Given the description of an element on the screen output the (x, y) to click on. 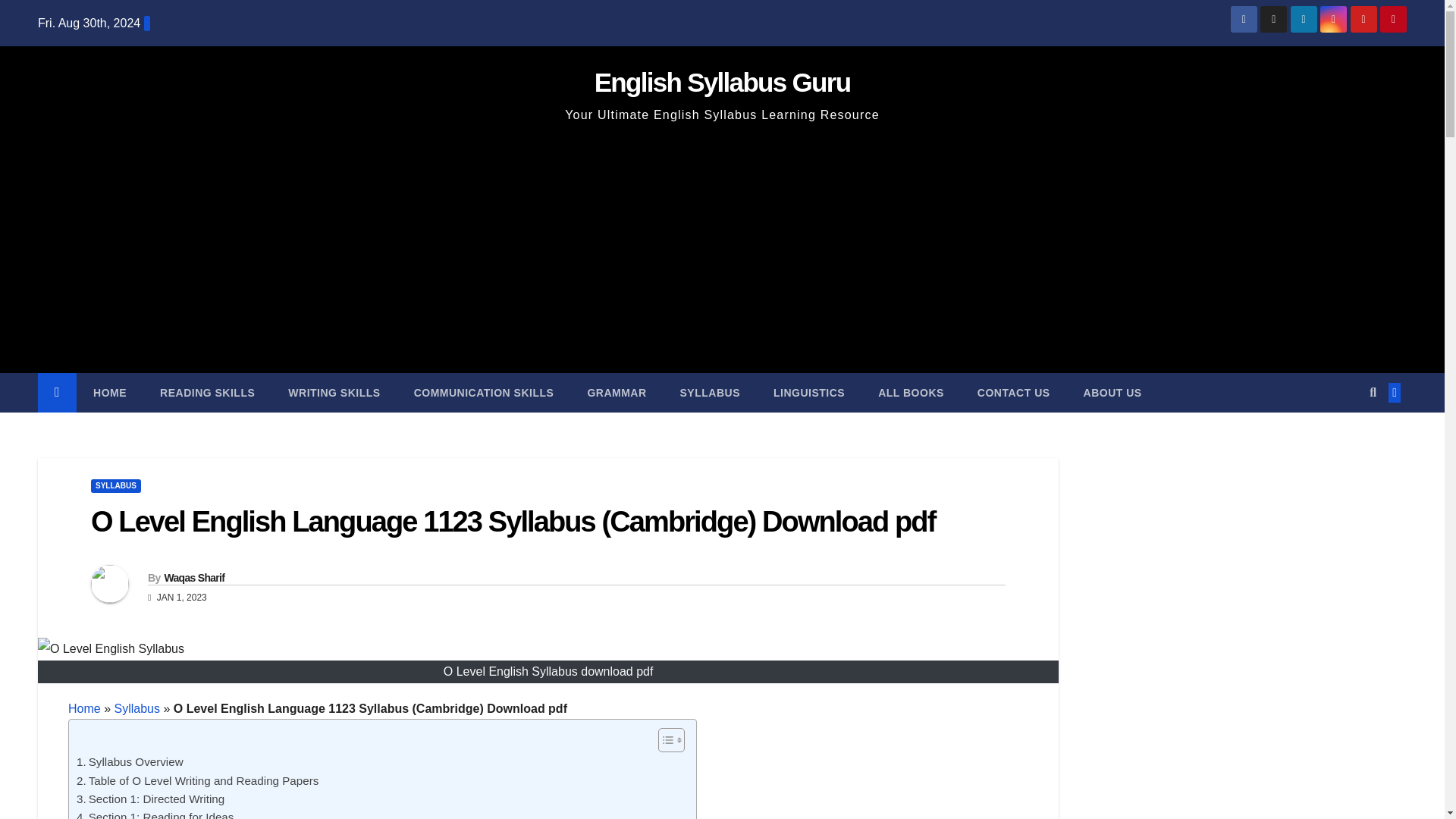
Home (109, 392)
SYLLABUS (115, 486)
Syllabus Overview (130, 761)
Syllabus (710, 392)
HOME (109, 392)
Linguistics (809, 392)
Home (84, 707)
Grammar (616, 392)
LINGUISTICS (809, 392)
